Given the description of an element on the screen output the (x, y) to click on. 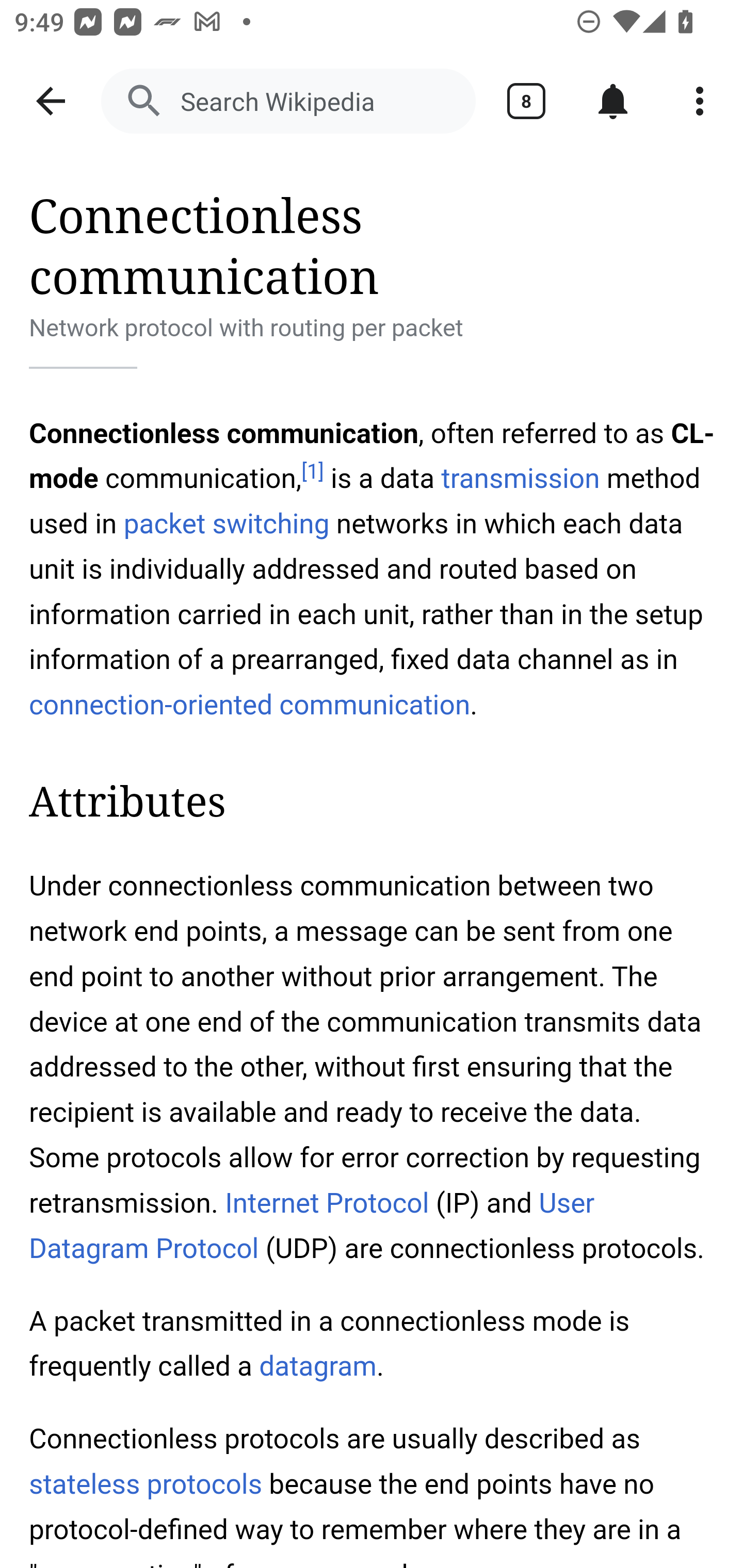
Show tabs 8 (525, 100)
Notifications (612, 100)
Navigate up (50, 101)
More options (699, 101)
Search Wikipedia (288, 100)
[] [ 1 ] (312, 471)
transmission (520, 478)
packet switching (225, 523)
connection-oriented communication (249, 704)
User Datagram Protocol (311, 1225)
Internet Protocol (326, 1202)
datagram (317, 1367)
stateless protocols (145, 1484)
